Given the description of an element on the screen output the (x, y) to click on. 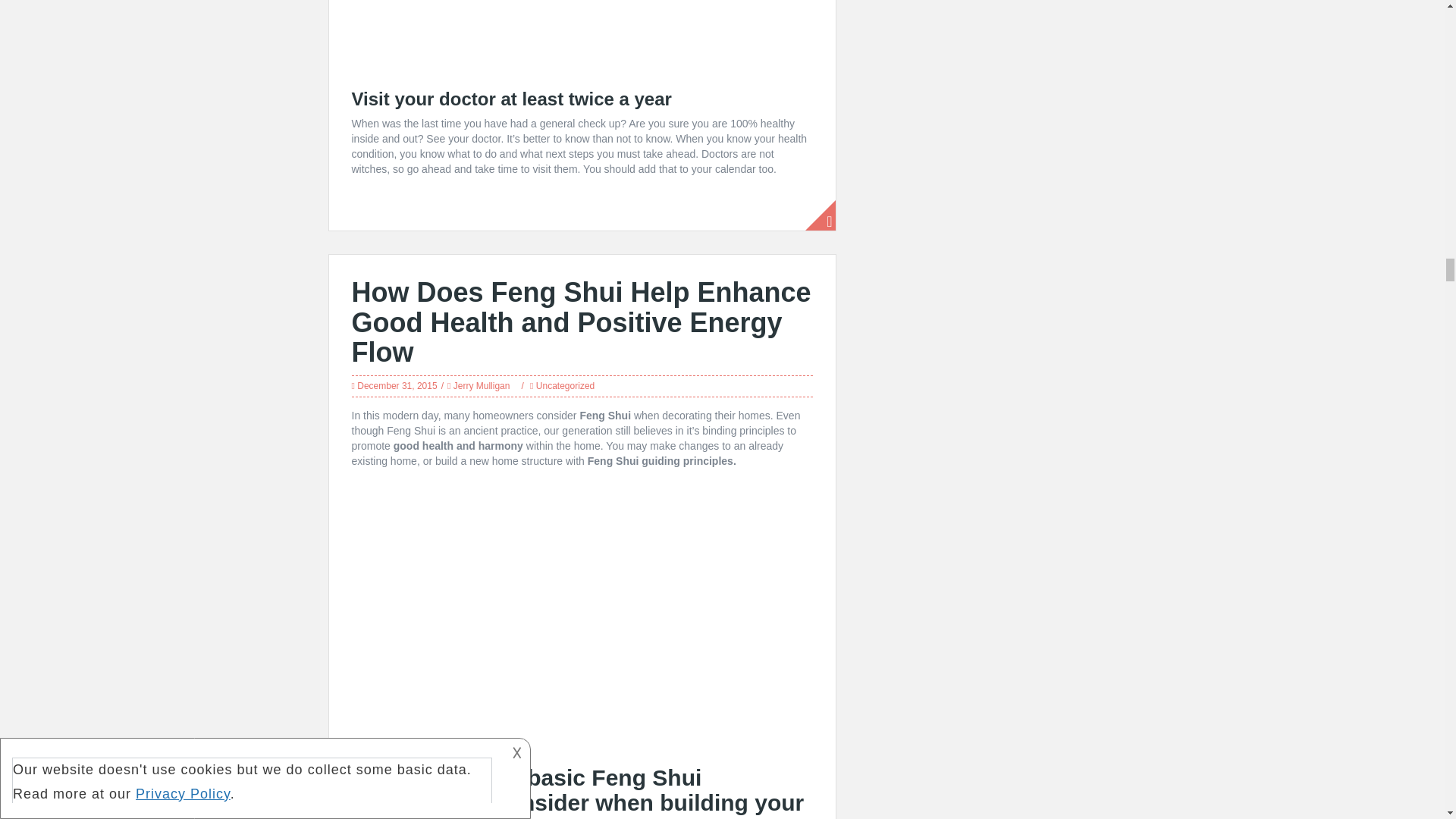
How To Improve Your Health Through Feng Shui (582, 613)
